Given the description of an element on the screen output the (x, y) to click on. 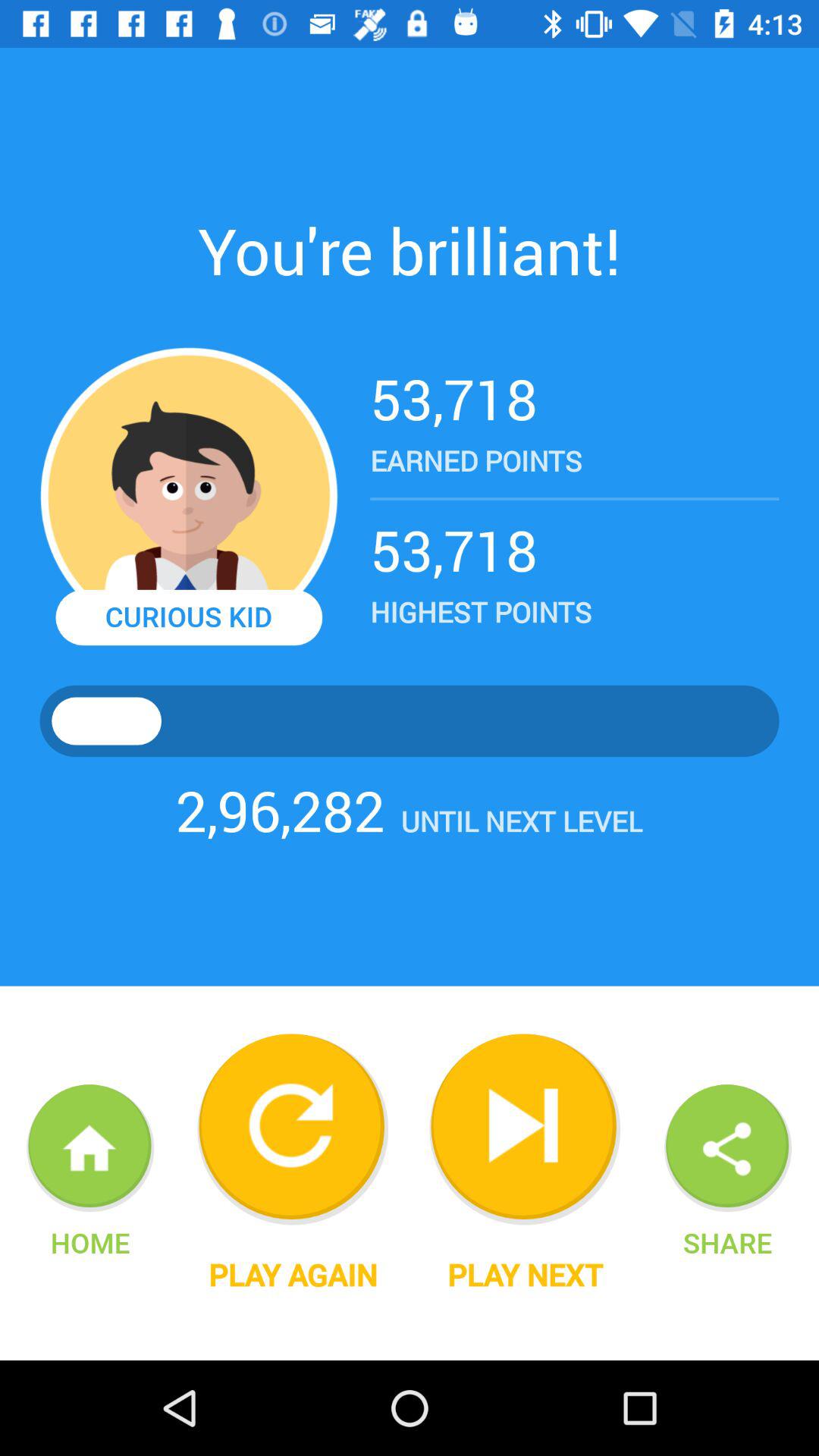
play next button (524, 1129)
